Given the description of an element on the screen output the (x, y) to click on. 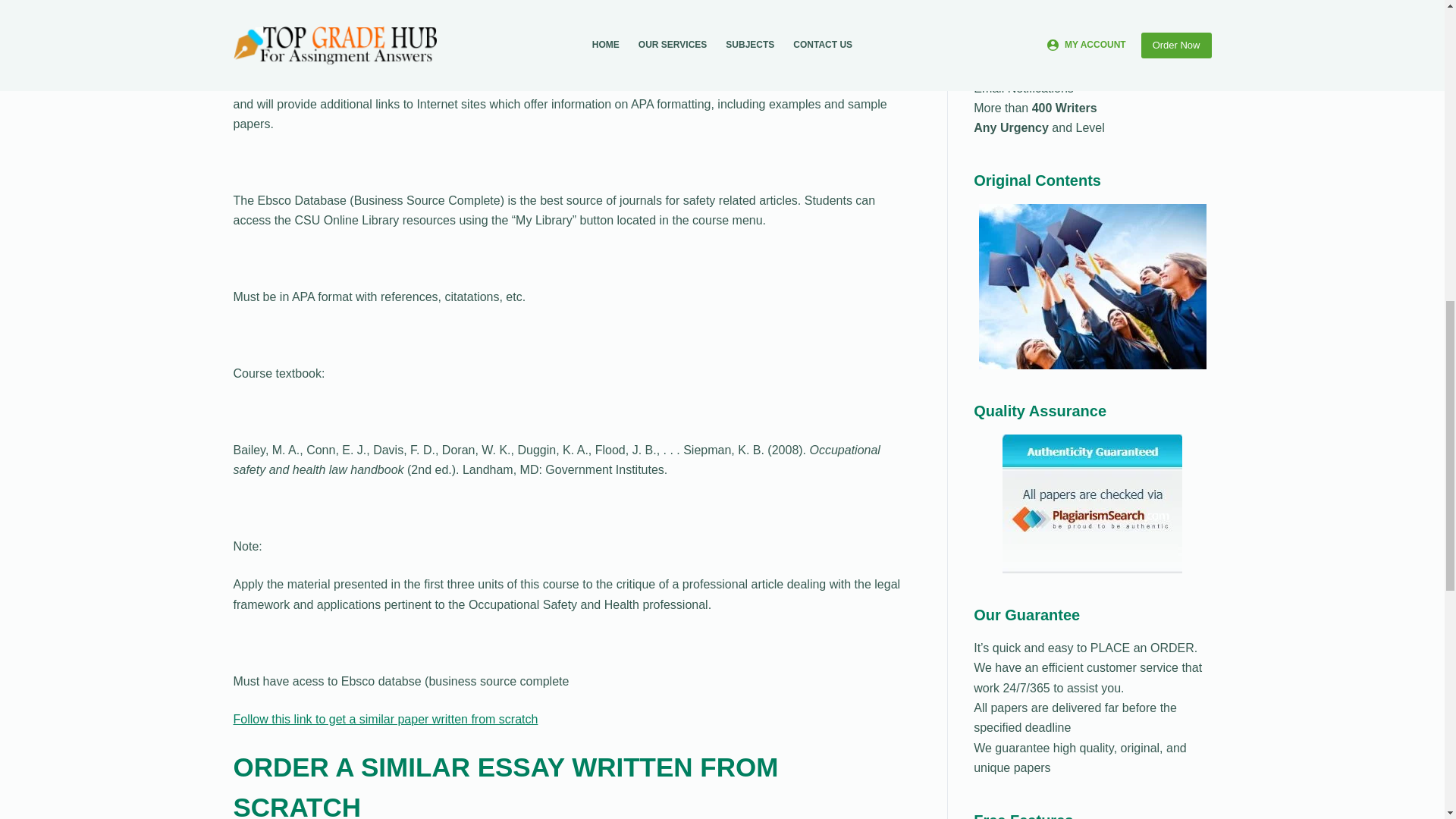
PLACE an ORDER. (1141, 647)
Follow this link to get a similar paper written from scratch (385, 718)
